Given the description of an element on the screen output the (x, y) to click on. 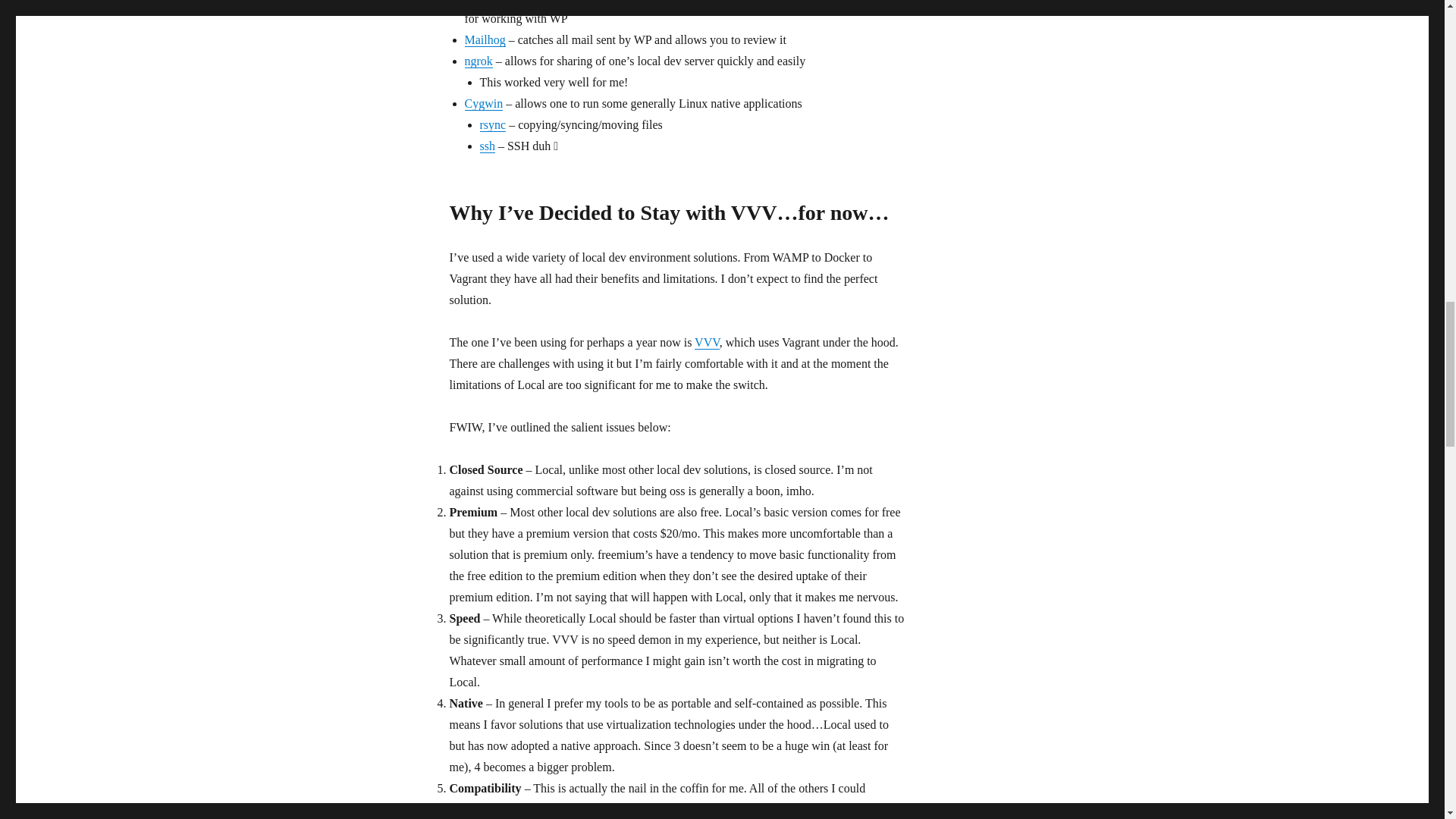
VVV (706, 341)
WP Engine DevKit (510, 2)
ssh (487, 145)
Mailhog (484, 39)
ngrok (478, 60)
Cygwin (483, 103)
rsync (492, 124)
